Given the description of an element on the screen output the (x, y) to click on. 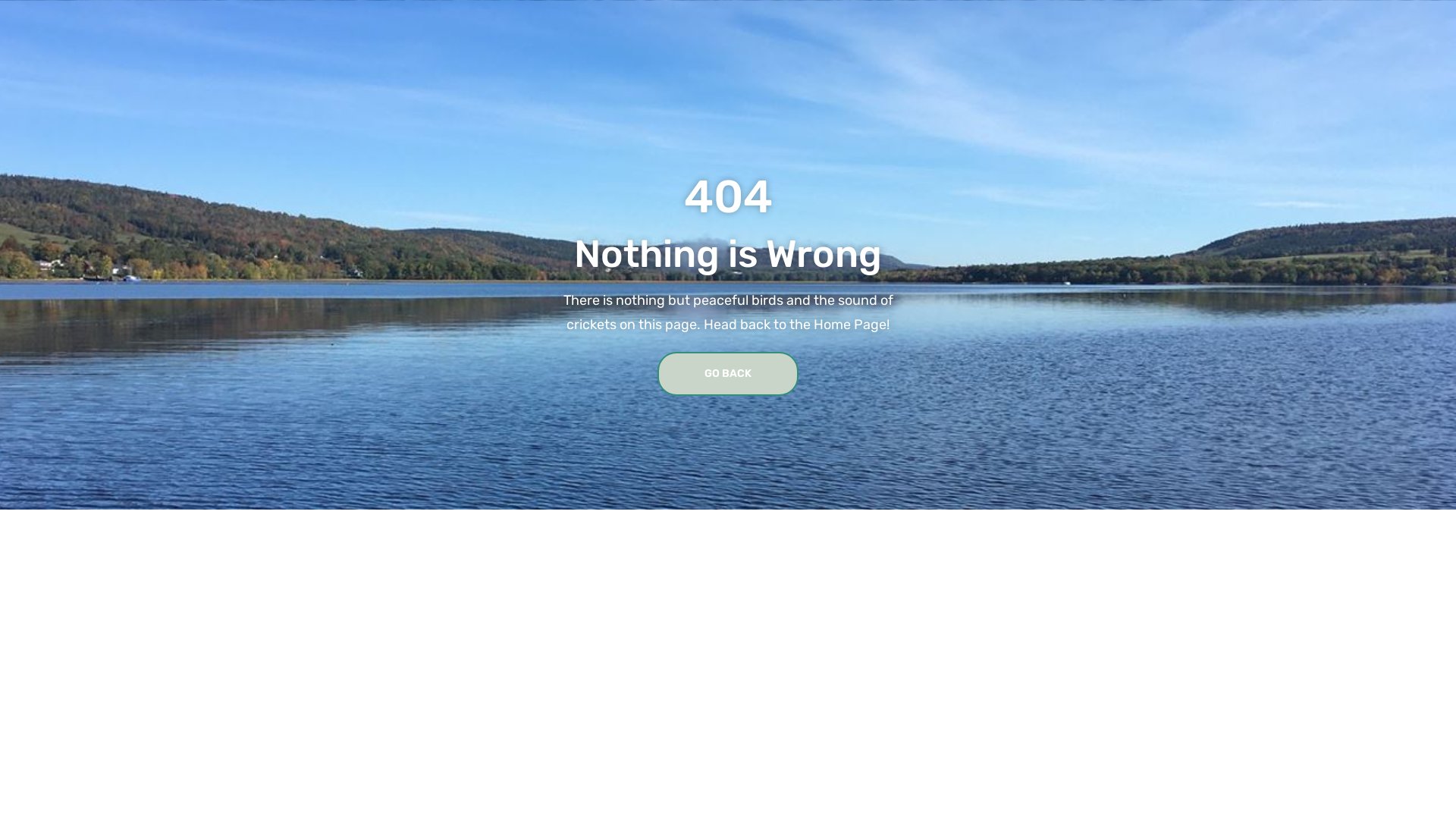
GO BACK Element type: text (727, 373)
